Given the description of an element on the screen output the (x, y) to click on. 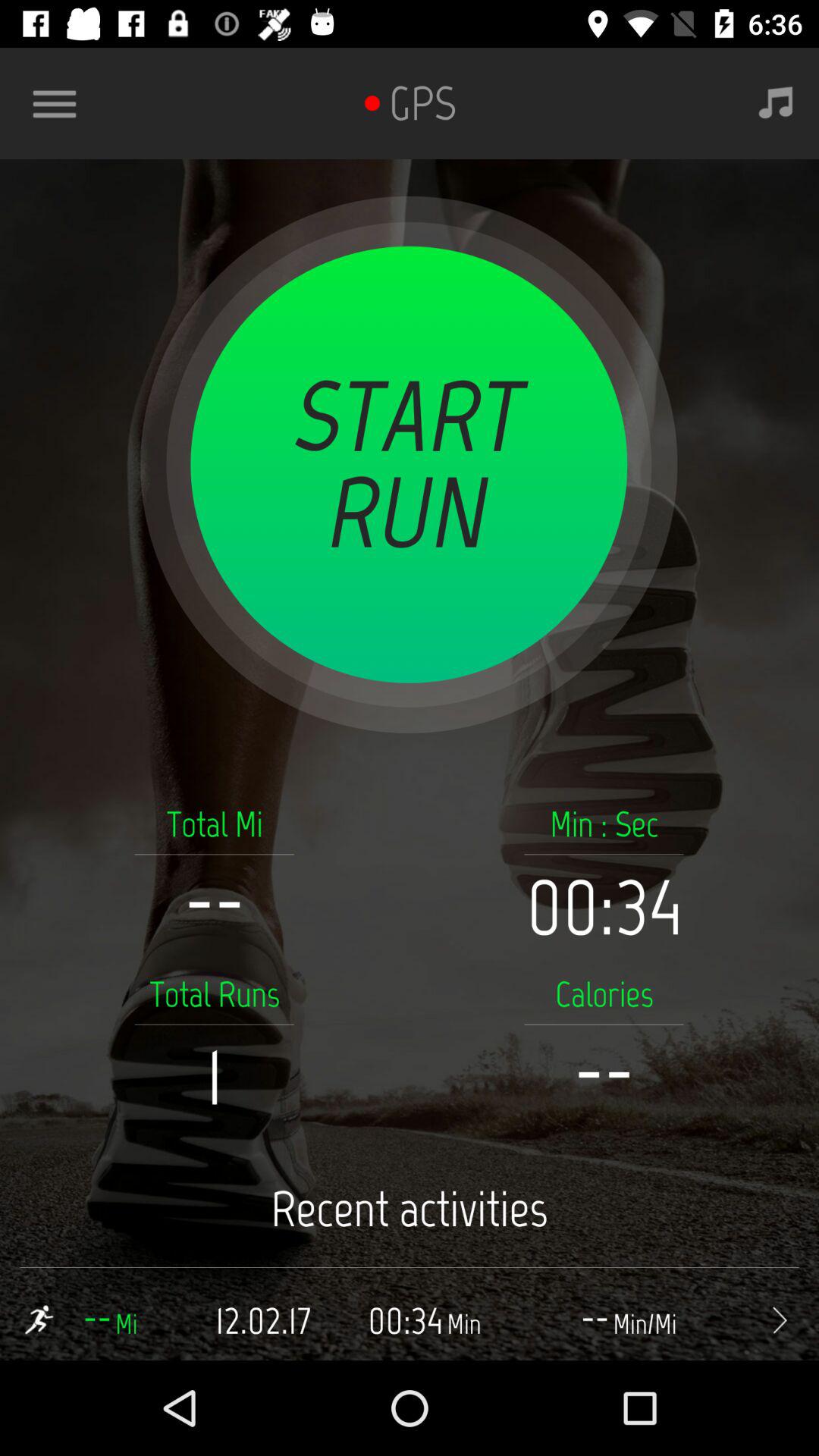
listen to music (776, 103)
